Given the description of an element on the screen output the (x, y) to click on. 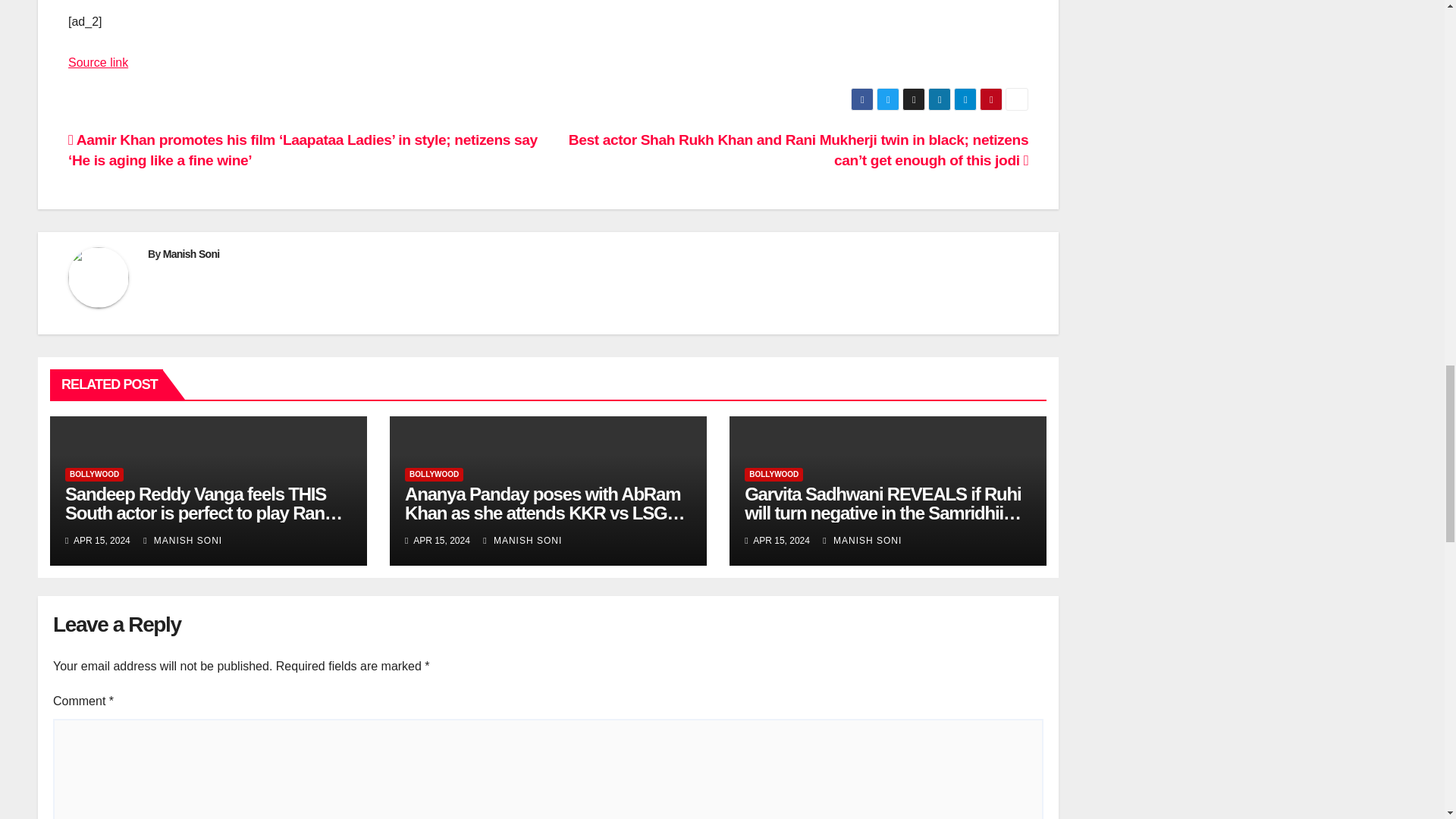
Source link (98, 62)
